Given the description of an element on the screen output the (x, y) to click on. 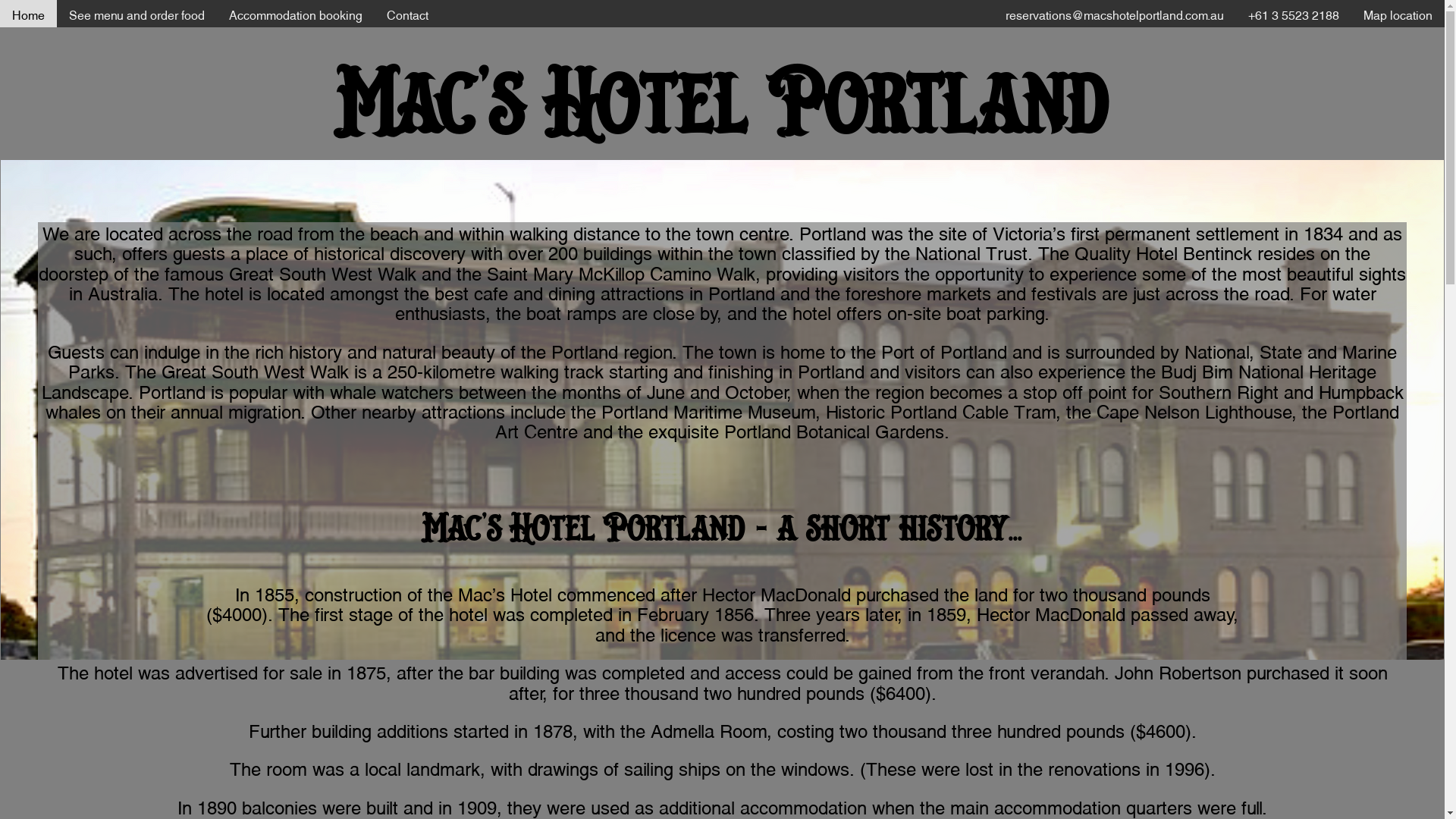
Home Element type: text (28, 13)
Contact Element type: text (407, 13)
reservations@macshotelportland.com.au Element type: text (1114, 13)
Accommodation booking Element type: text (295, 13)
+61 3 5523 2188 Element type: text (1293, 13)
See menu and order food Element type: text (136, 13)
Map location Element type: text (1397, 13)
